Given the description of an element on the screen output the (x, y) to click on. 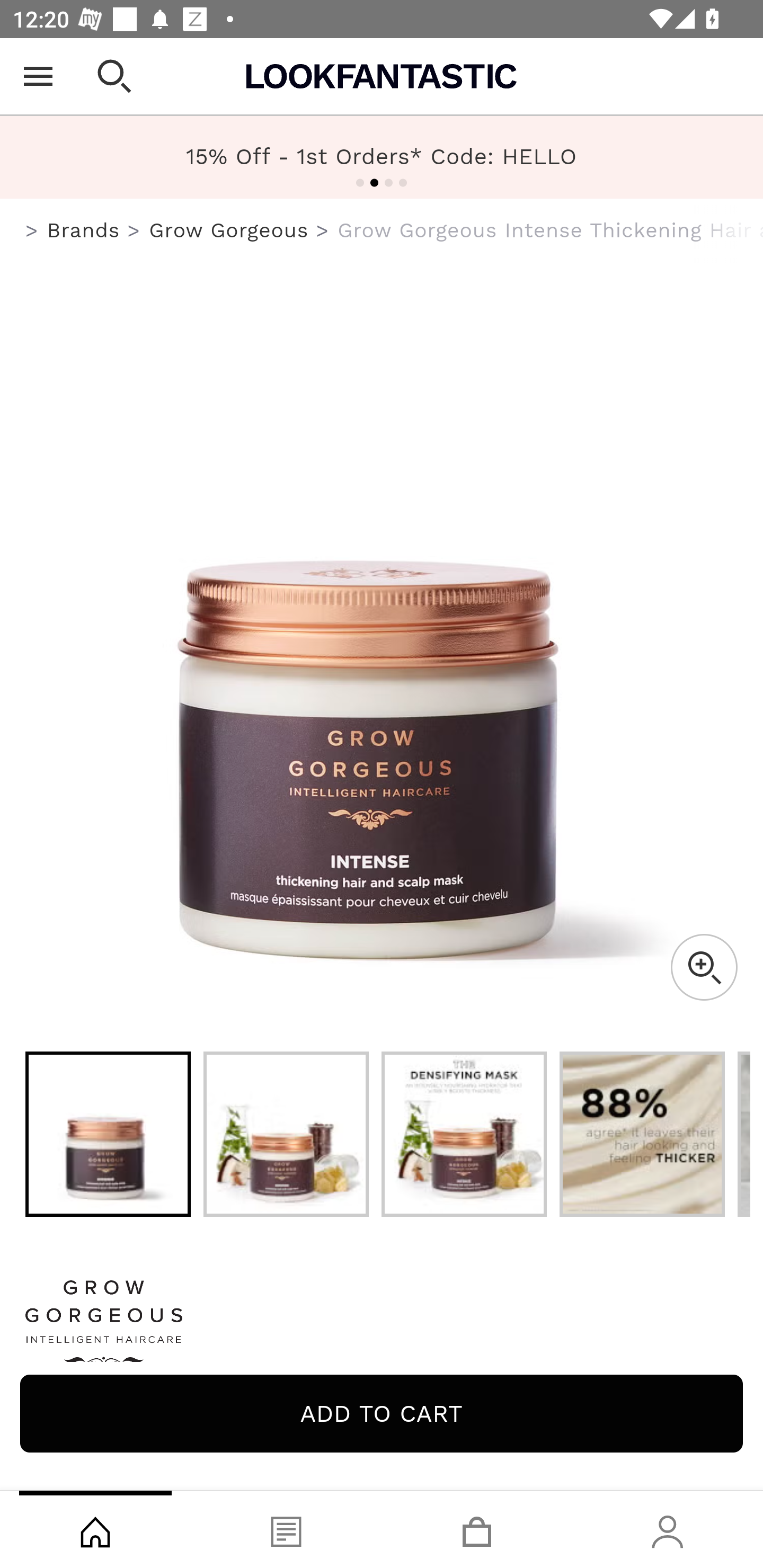
Open Menu (38, 75)
Open search (114, 75)
Lookfantastic USA (381, 75)
FREE US Shipping Over $40 (381, 157)
us.lookfantastic (32, 230)
Brands (82, 230)
Grow Gorgeous (228, 230)
Zoom (703, 966)
Grow Gorgeous (381, 1327)
Add to cart (381, 1413)
Shop, tab, 1 of 4 (95, 1529)
Blog, tab, 2 of 4 (285, 1529)
Basket, tab, 3 of 4 (476, 1529)
Account, tab, 4 of 4 (667, 1529)
